Given the description of an element on the screen output the (x, y) to click on. 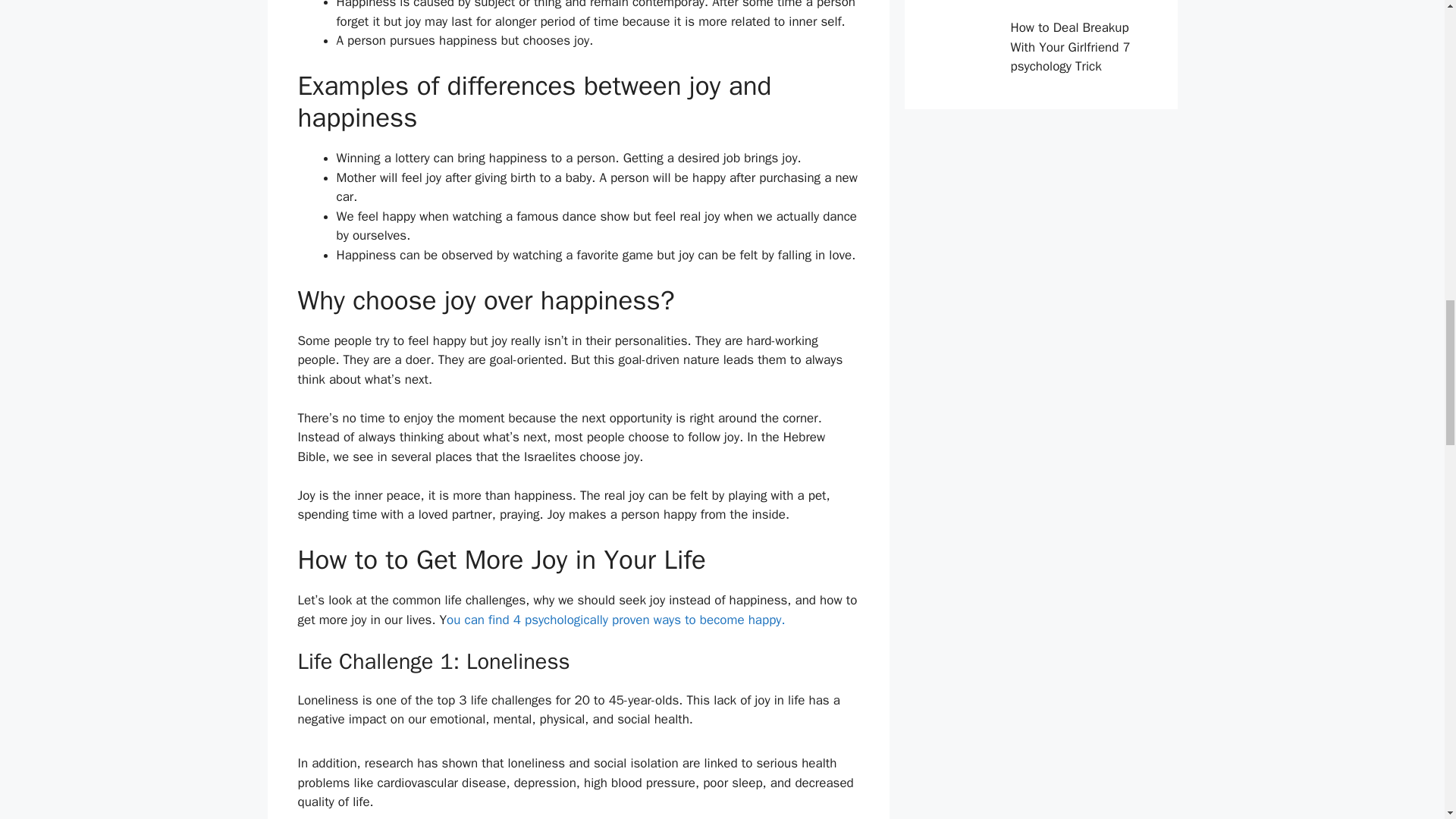
ou can find 4 psychologically proven ways to become happy. (615, 619)
